Given the description of an element on the screen output the (x, y) to click on. 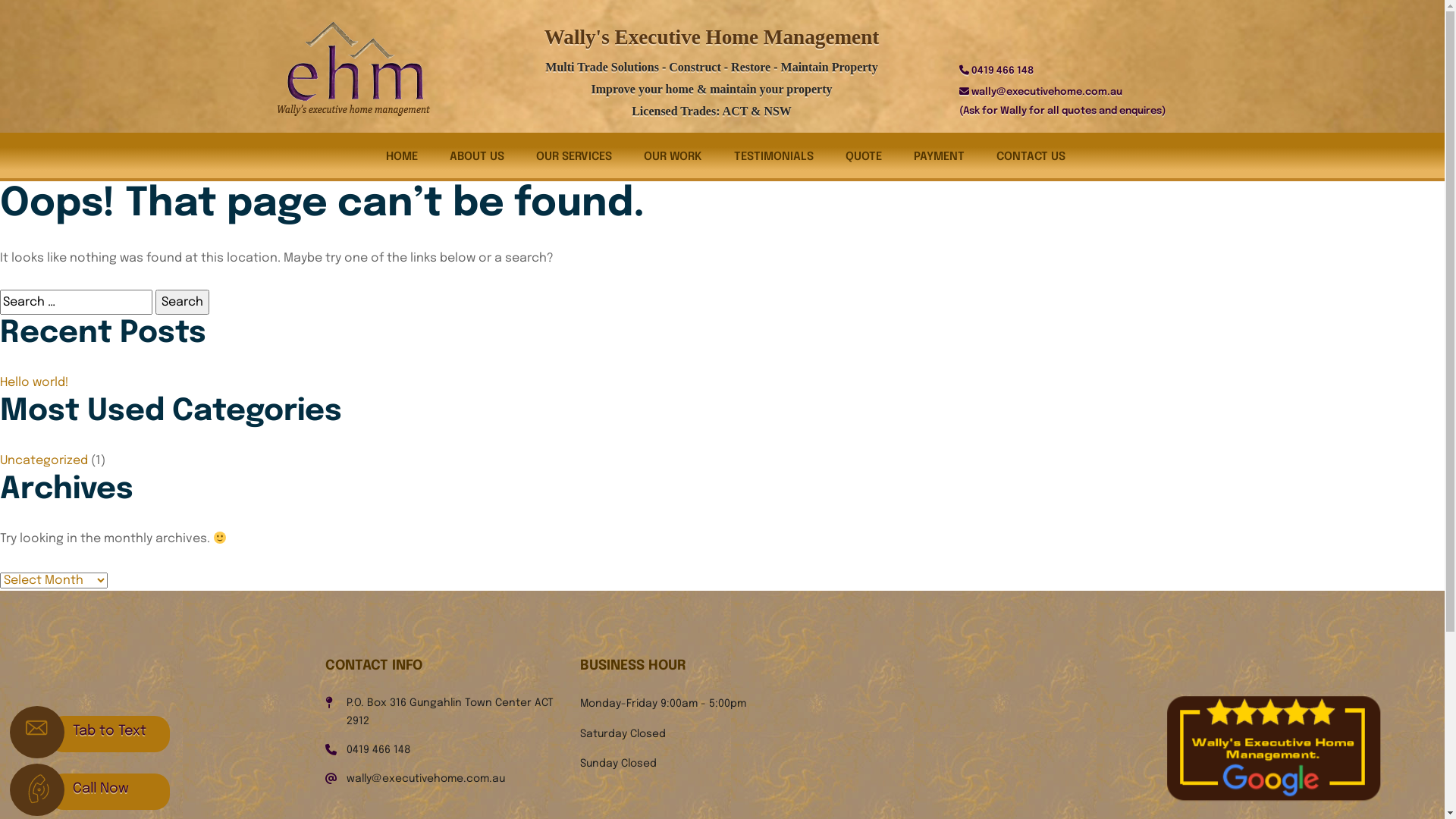
0419 466 148 Element type: text (377, 749)
wally@executivehome.com.au Element type: text (1045, 92)
Hello world! Element type: text (34, 382)
wally@executivehome.com.au Element type: text (424, 778)
Uncategorized Element type: text (43, 460)
Search Element type: text (182, 301)
0419 466 148 Element type: text (1001, 70)
